Given the description of an element on the screen output the (x, y) to click on. 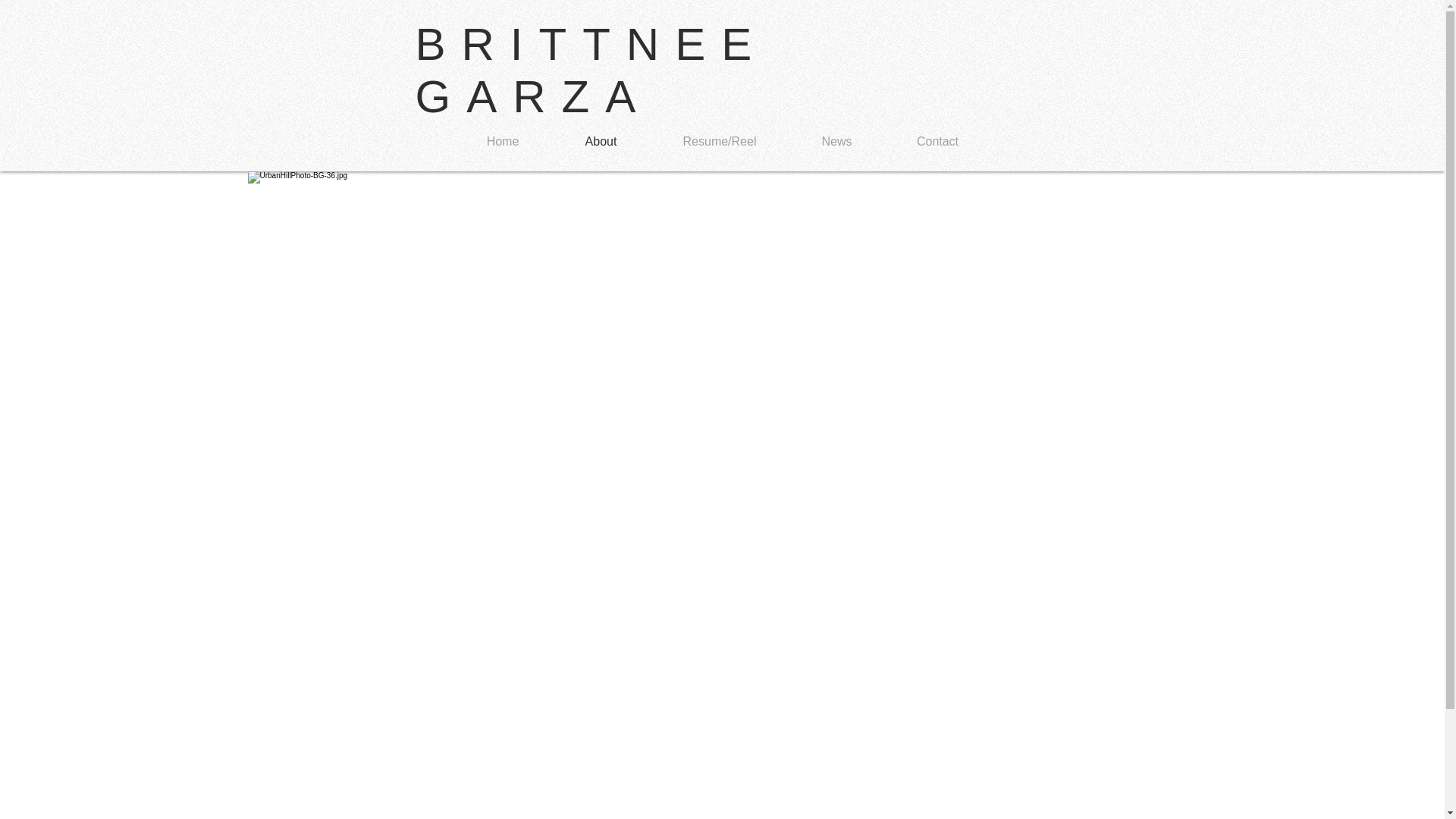
About (600, 141)
Home (501, 141)
News (836, 141)
Contact (936, 141)
